Given the description of an element on the screen output the (x, y) to click on. 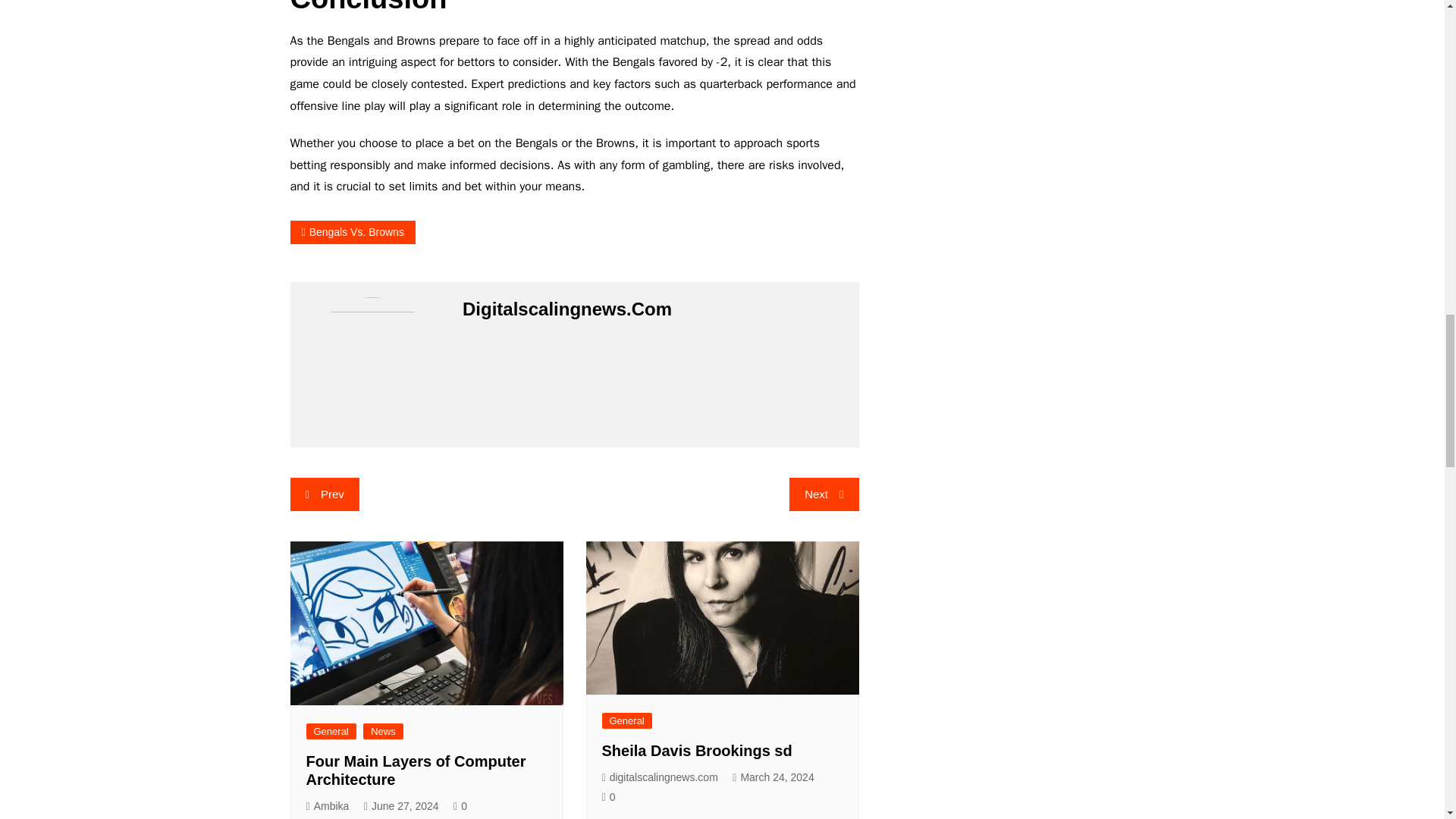
Prev (323, 494)
March 24, 2024 (772, 777)
Sheila Davis Brookings sd (697, 750)
Bengals Vs. Browns (351, 232)
Four Main Layers of Computer Architecture (415, 769)
digitalscalingnews.com (659, 777)
Ambika (327, 805)
General (330, 731)
June 27, 2024 (401, 805)
News (382, 731)
